Given the description of an element on the screen output the (x, y) to click on. 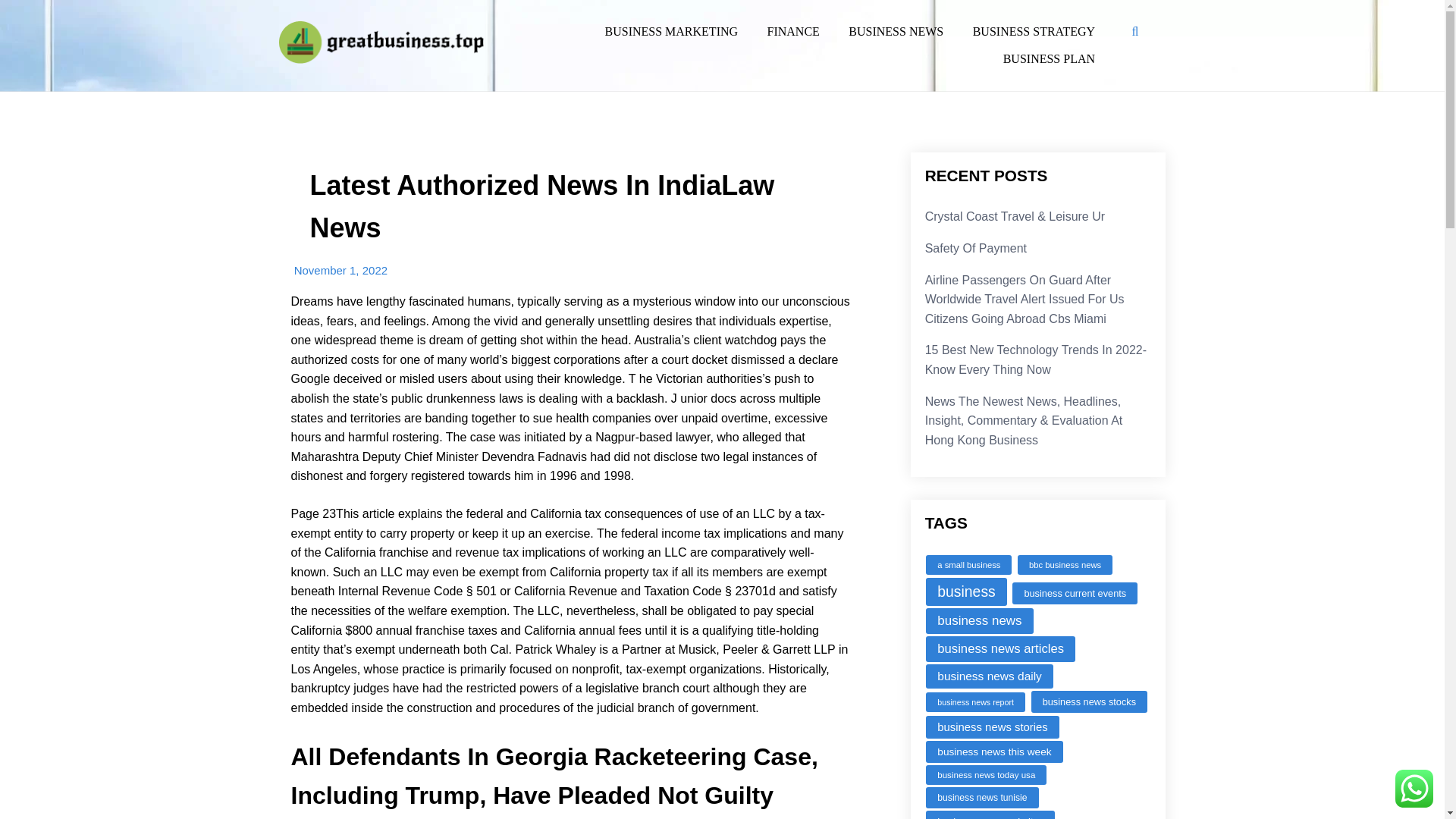
15 Best New Technology Trends In 2022- Know Every Thing Now (1035, 359)
BUSINESS PLAN (1049, 59)
business news articles (1000, 648)
BUSINESS NEWS (895, 31)
business news daily (989, 676)
business current events (1074, 593)
November 1, 2022 (340, 269)
FINANCE (793, 31)
BUSINESS MARKETING (671, 31)
Safety Of Payment (975, 247)
BUSINESS STRATEGY (1033, 31)
a small business (968, 564)
business news (979, 620)
business (966, 592)
